Given the description of an element on the screen output the (x, y) to click on. 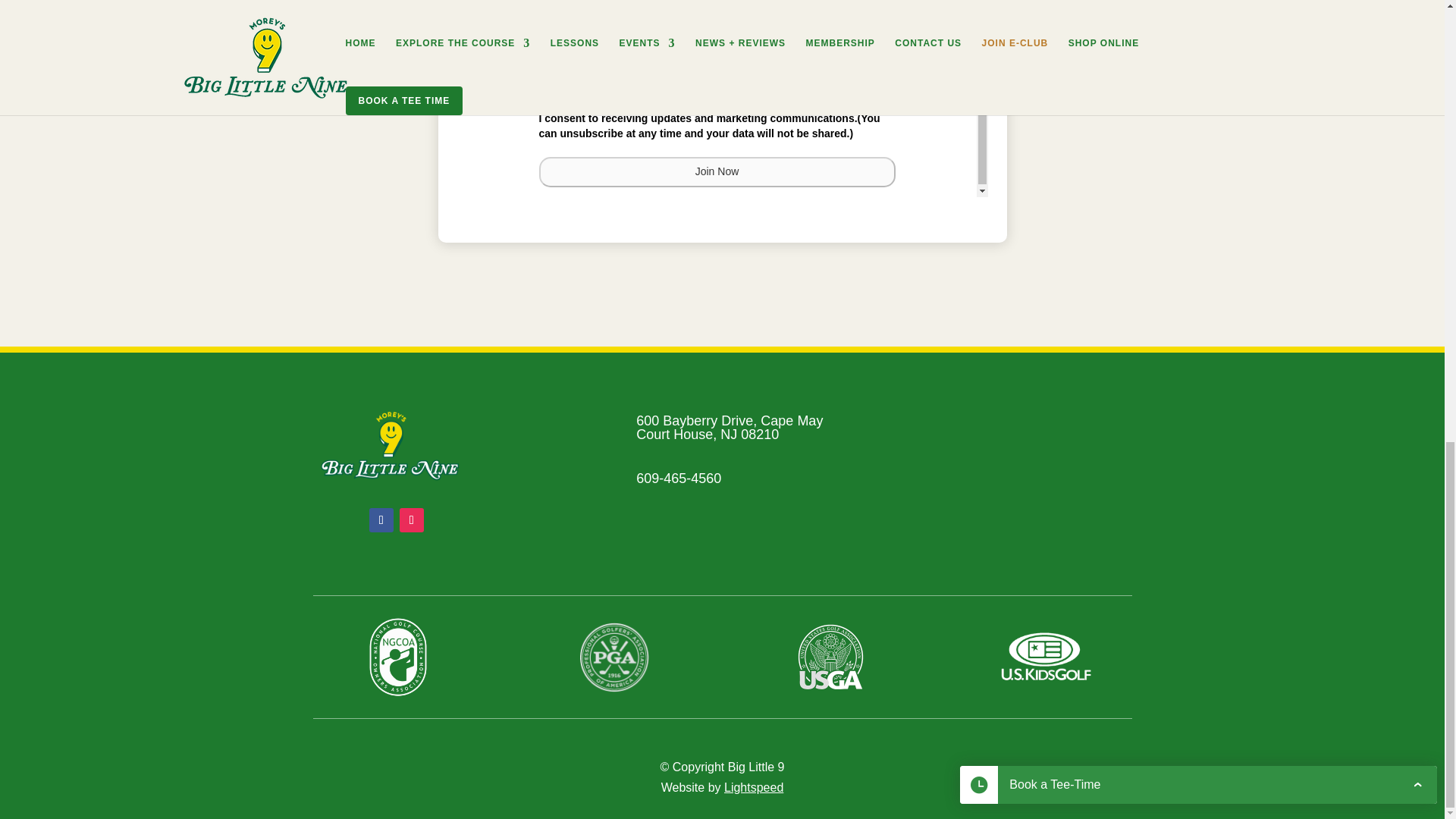
Follow on Instagram (410, 519)
USGAseal2 (830, 656)
USkidsgolf1 (1046, 656)
Lightspeed (753, 787)
Follow on Facebook (381, 519)
